Given the description of an element on the screen output the (x, y) to click on. 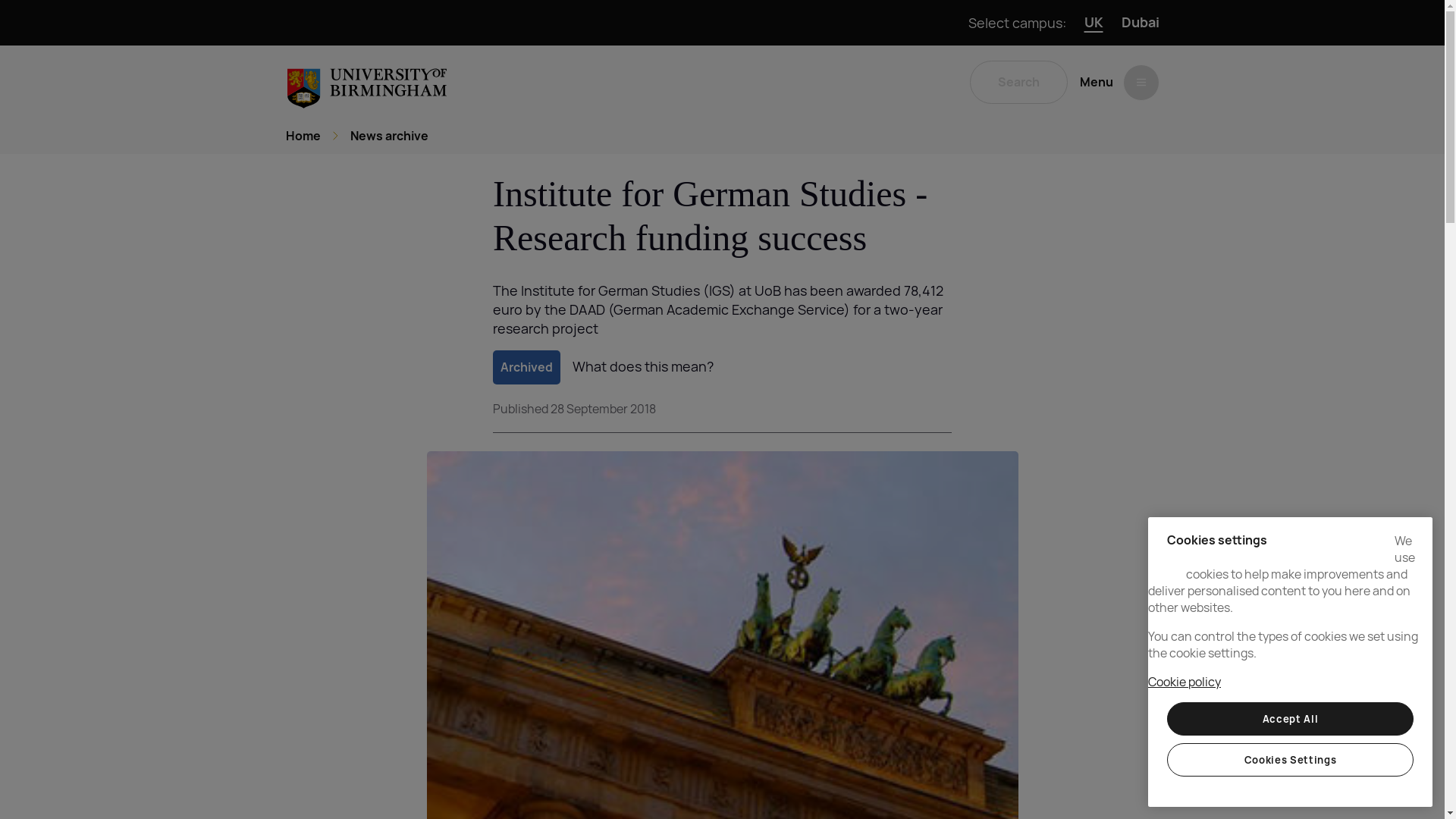
UK (1093, 22)
Search (1018, 81)
News archive (389, 136)
Home (302, 136)
What does this mean? (642, 366)
Dubai (1139, 22)
